Given the description of an element on the screen output the (x, y) to click on. 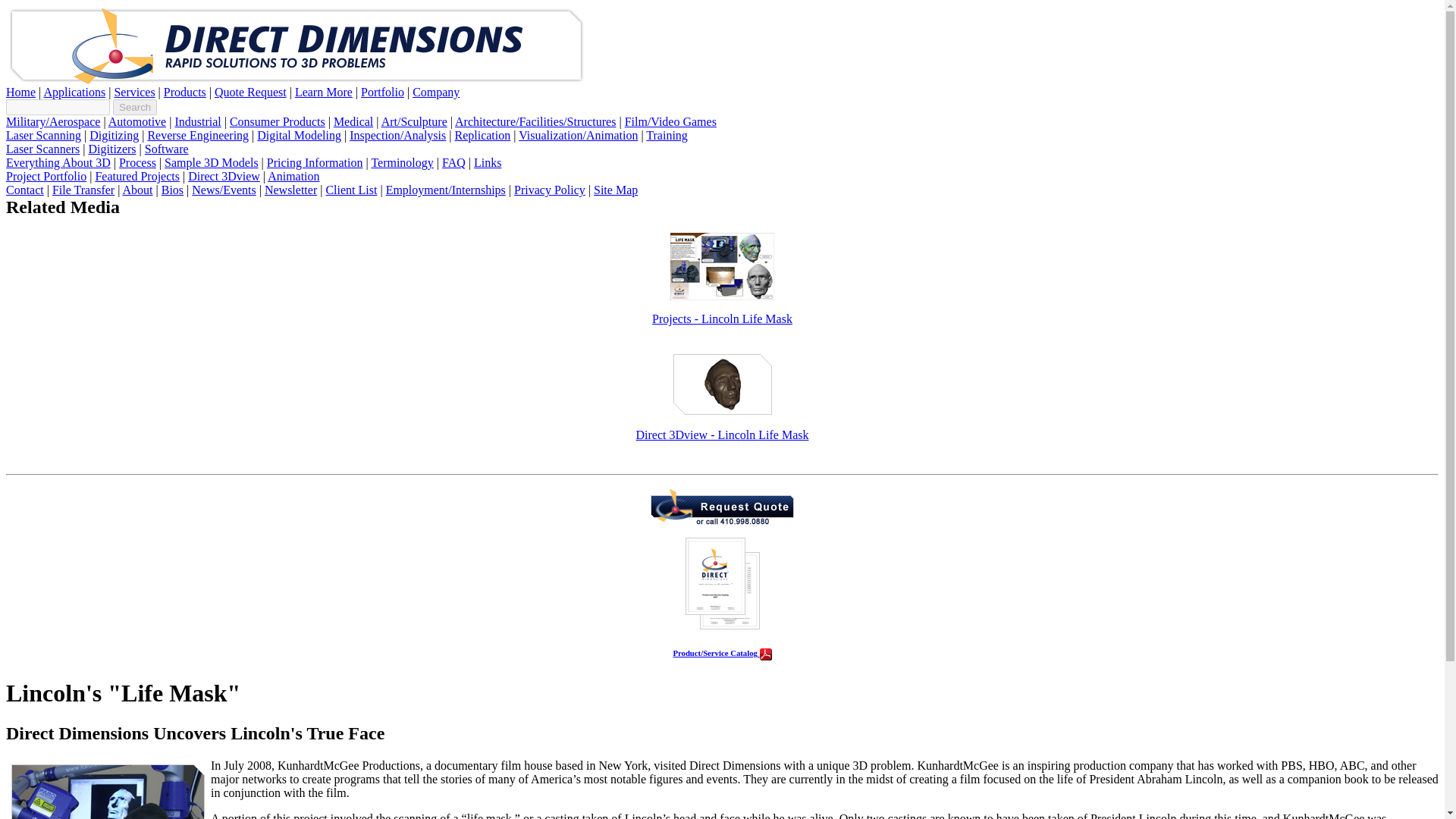
Home (19, 91)
Training (666, 134)
Laser Scanning (43, 134)
Quote Request (250, 91)
Direct Dimensions.com (295, 81)
Company (436, 91)
Digitizing (113, 134)
Links (487, 162)
Medical (352, 121)
Laser Scanners (42, 148)
